Given the description of an element on the screen output the (x, y) to click on. 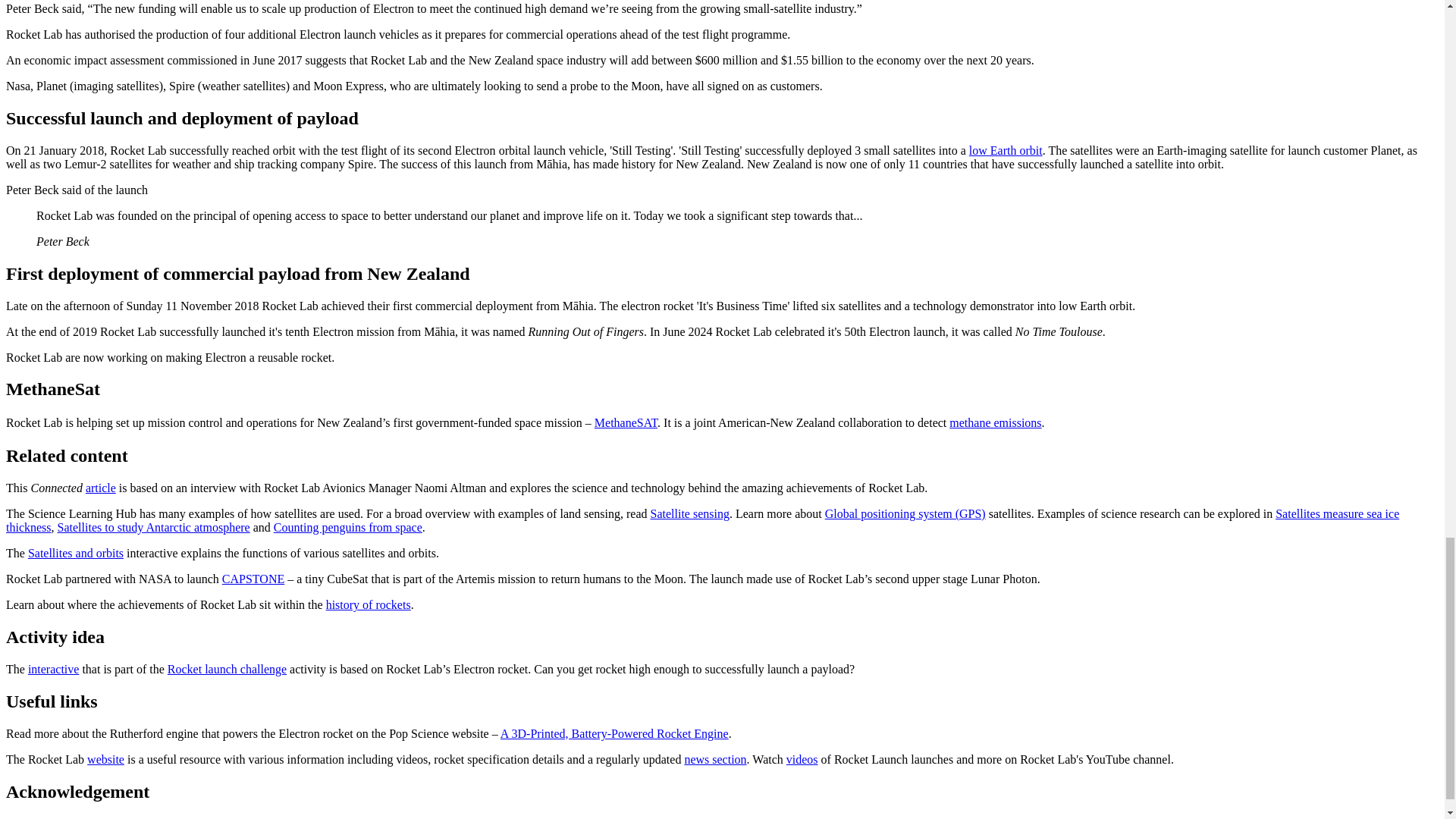
low Earth orbit (1005, 150)
Satellite sensing (689, 513)
Satellites and orbits (75, 553)
Satellites to study Antarctic atmosphere (154, 526)
Counting penguins from space (347, 526)
article (100, 487)
MethaneSAT (626, 422)
Satellites measure sea ice thickness (702, 519)
methane emissions (995, 422)
